Given the description of an element on the screen output the (x, y) to click on. 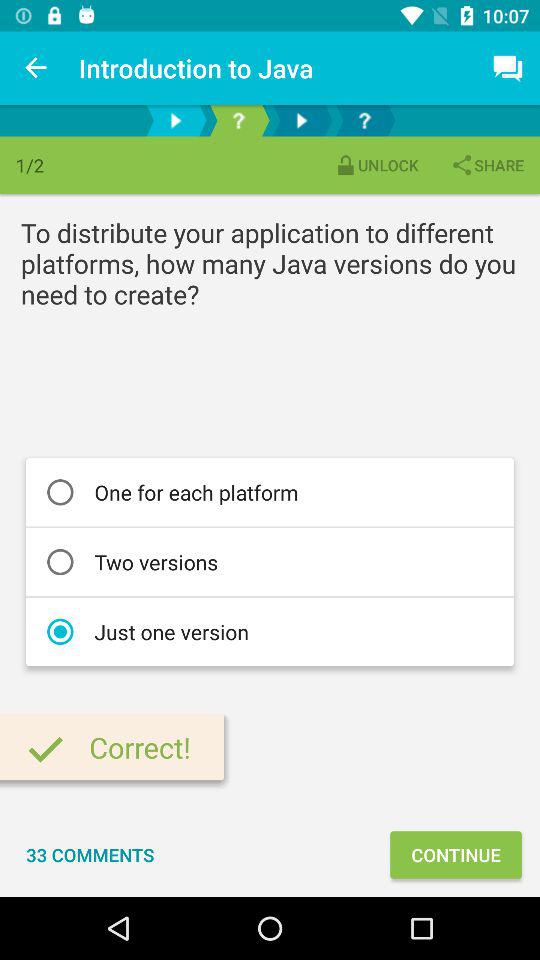
select help option (364, 120)
